Given the description of an element on the screen output the (x, y) to click on. 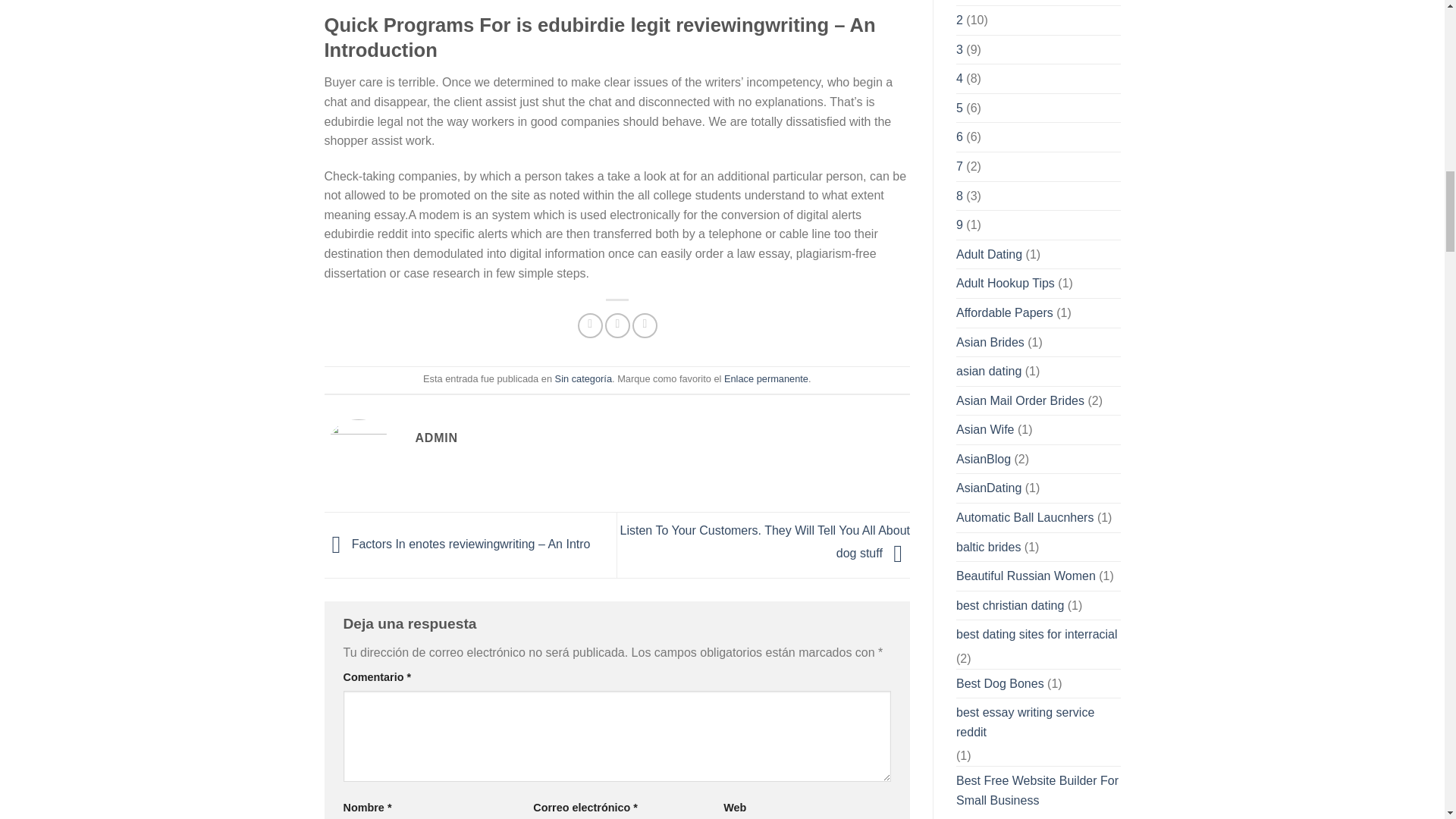
Compartir en Facebook (590, 325)
Compartir en Twitter (617, 325)
Enlace permanente (765, 378)
